Given the description of an element on the screen output the (x, y) to click on. 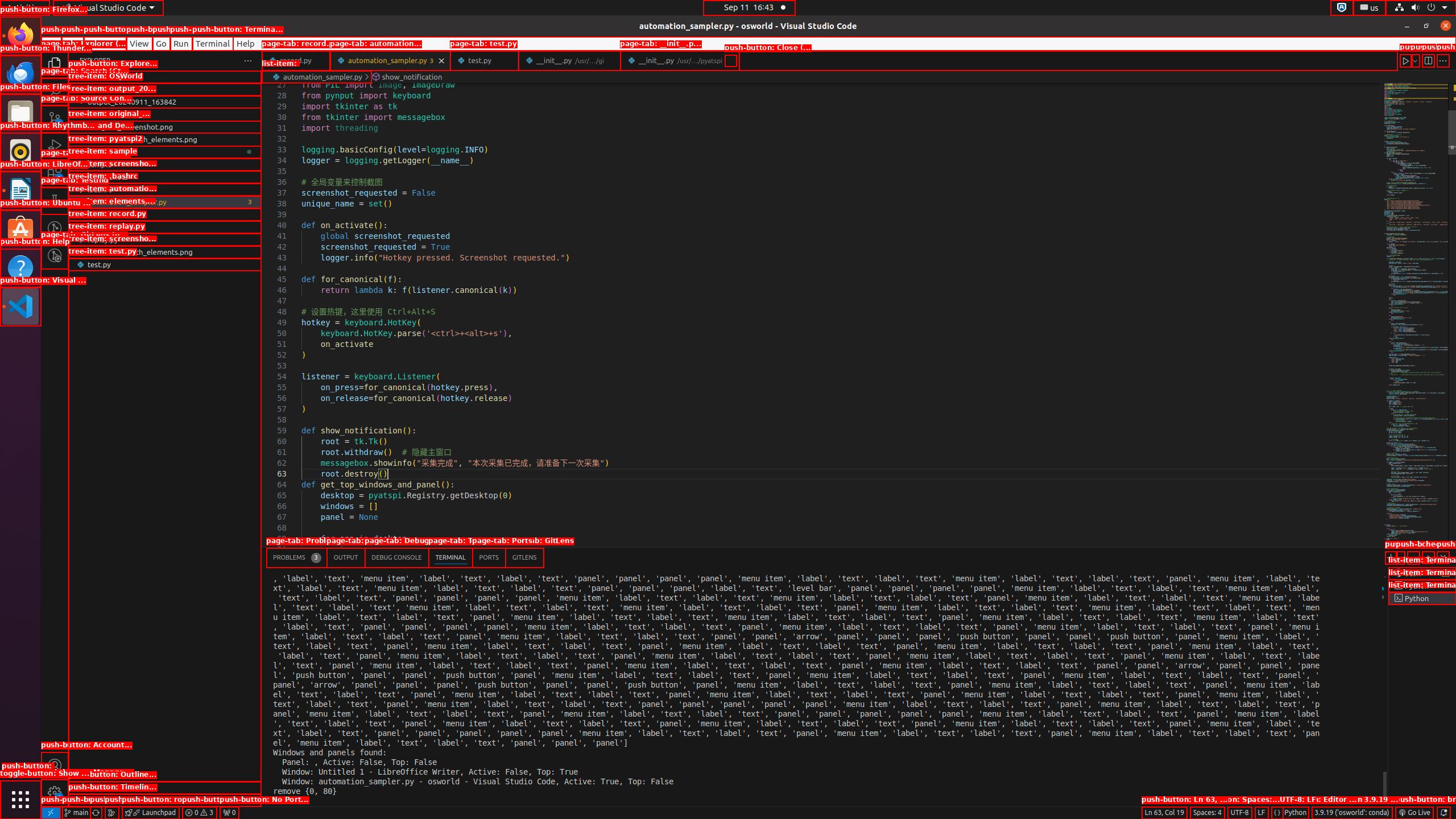
Ports Element type: page-tab (488, 557)
replay.py Element type: tree-item (164, 239)
test.py Element type: tree-item (164, 264)
Terminal Element type: push-button (212, 43)
